Given the description of an element on the screen output the (x, y) to click on. 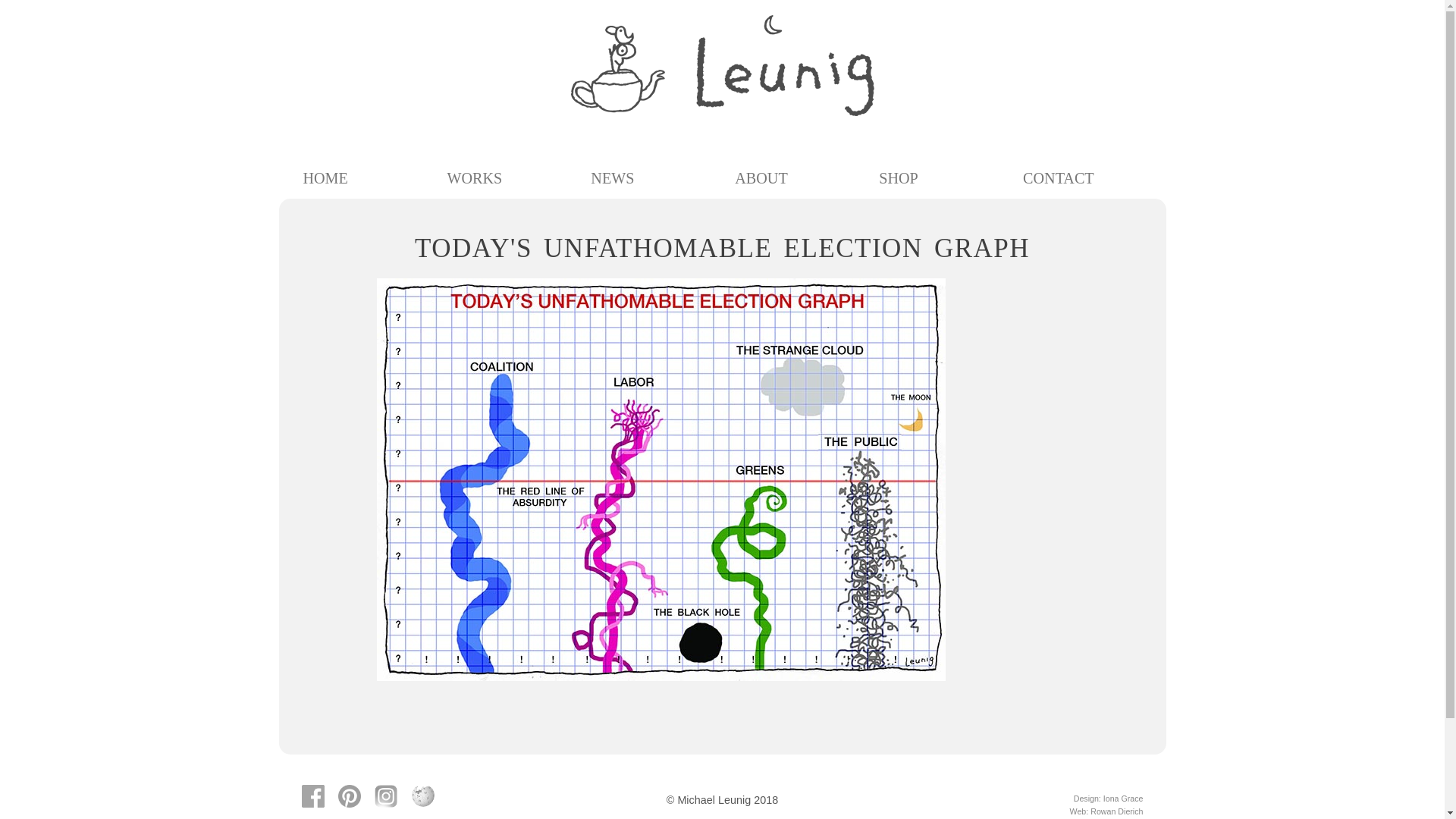
See Michael Leunig's work on Instagram. Element type: hover (391, 795)
WORKS Element type: text (505, 177)
Follow Michael Leunig on Pinterest. Element type: hover (355, 795)
Learn more about Michael Leunig on Wikipedia. Element type: hover (428, 795)
ABOUT Element type: text (793, 177)
View the Michael Leunig appreciation page on Facebook. Element type: hover (318, 795)
Leunig Element type: hover (721, 65)
HOME Element type: text (361, 177)
SHOP Element type: text (938, 177)
NEWS Element type: text (649, 177)
CONTACT Element type: text (1082, 177)
